Given the description of an element on the screen output the (x, y) to click on. 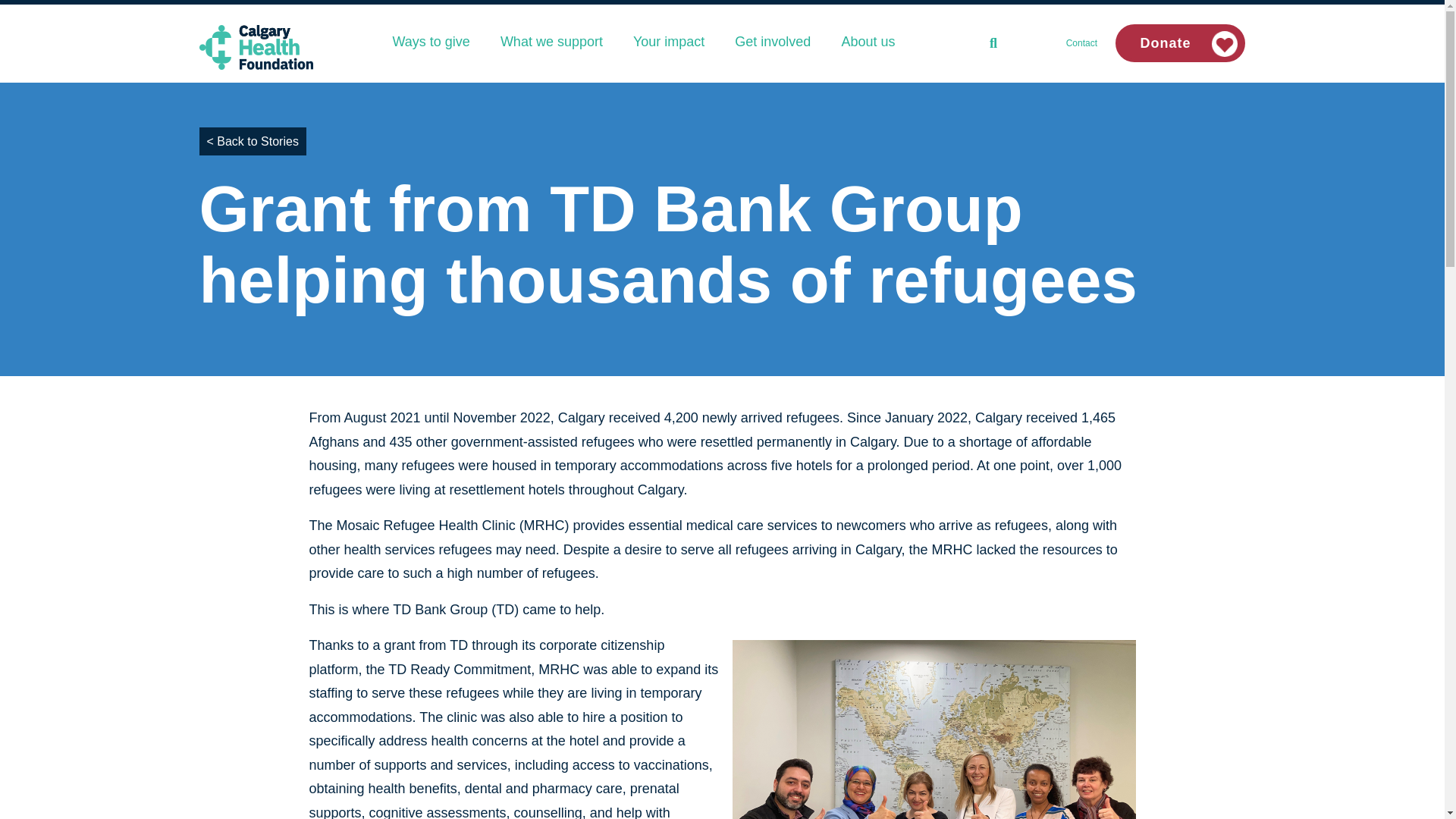
Your impact (668, 41)
What we support (550, 41)
Get involved (772, 41)
About us (867, 41)
What we support (550, 41)
Your impact (668, 41)
Contact (1081, 42)
Ways to give (430, 41)
Donate (1179, 43)
Ways to give (430, 41)
